Given the description of an element on the screen output the (x, y) to click on. 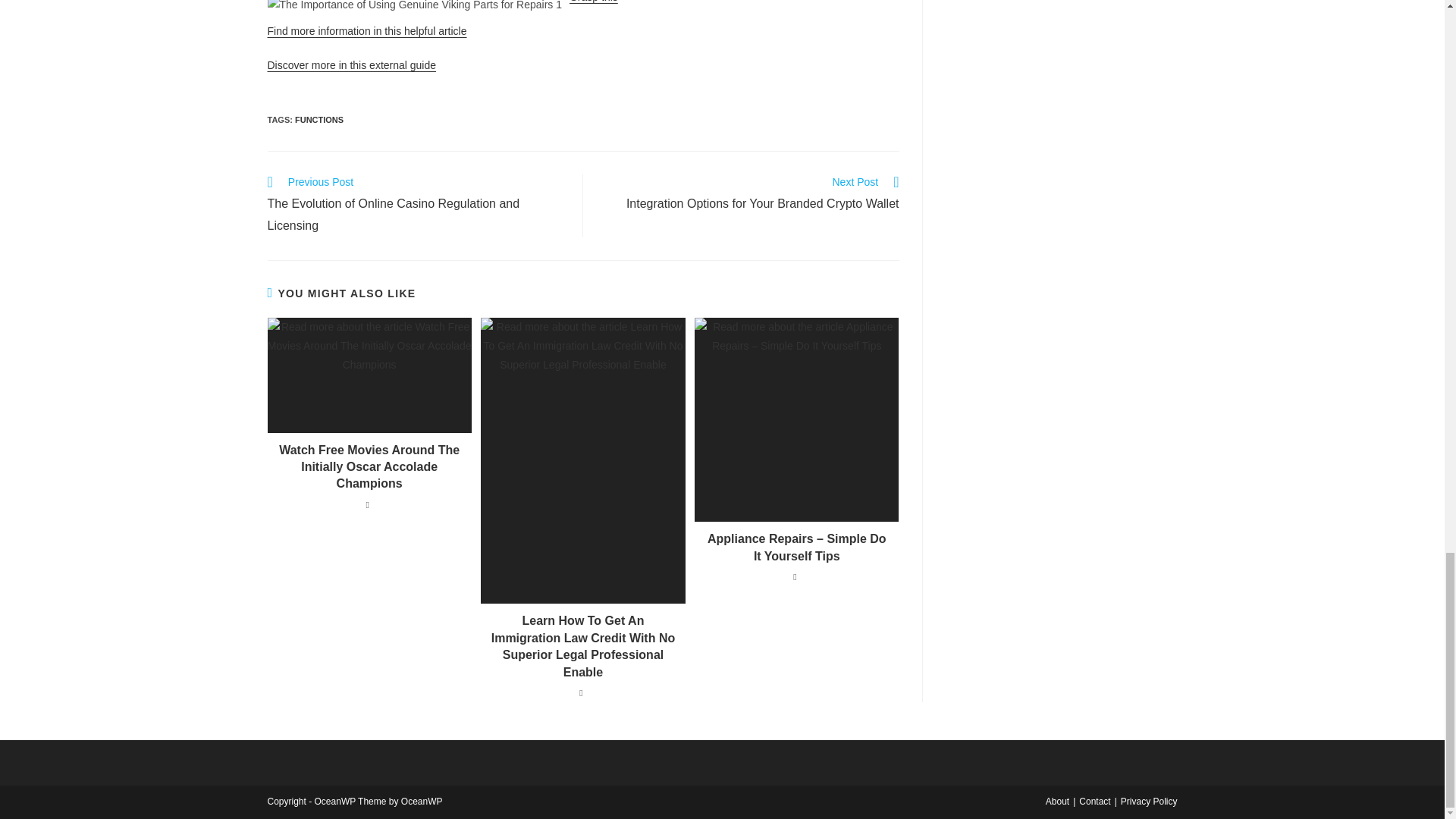
Privacy Policy (1149, 801)
About (1056, 801)
FUNCTIONS (319, 119)
Grasp this (593, 1)
Find more information in this helpful article (748, 194)
Discover more in this external guide (365, 30)
Contact (350, 64)
